Given the description of an element on the screen output the (x, y) to click on. 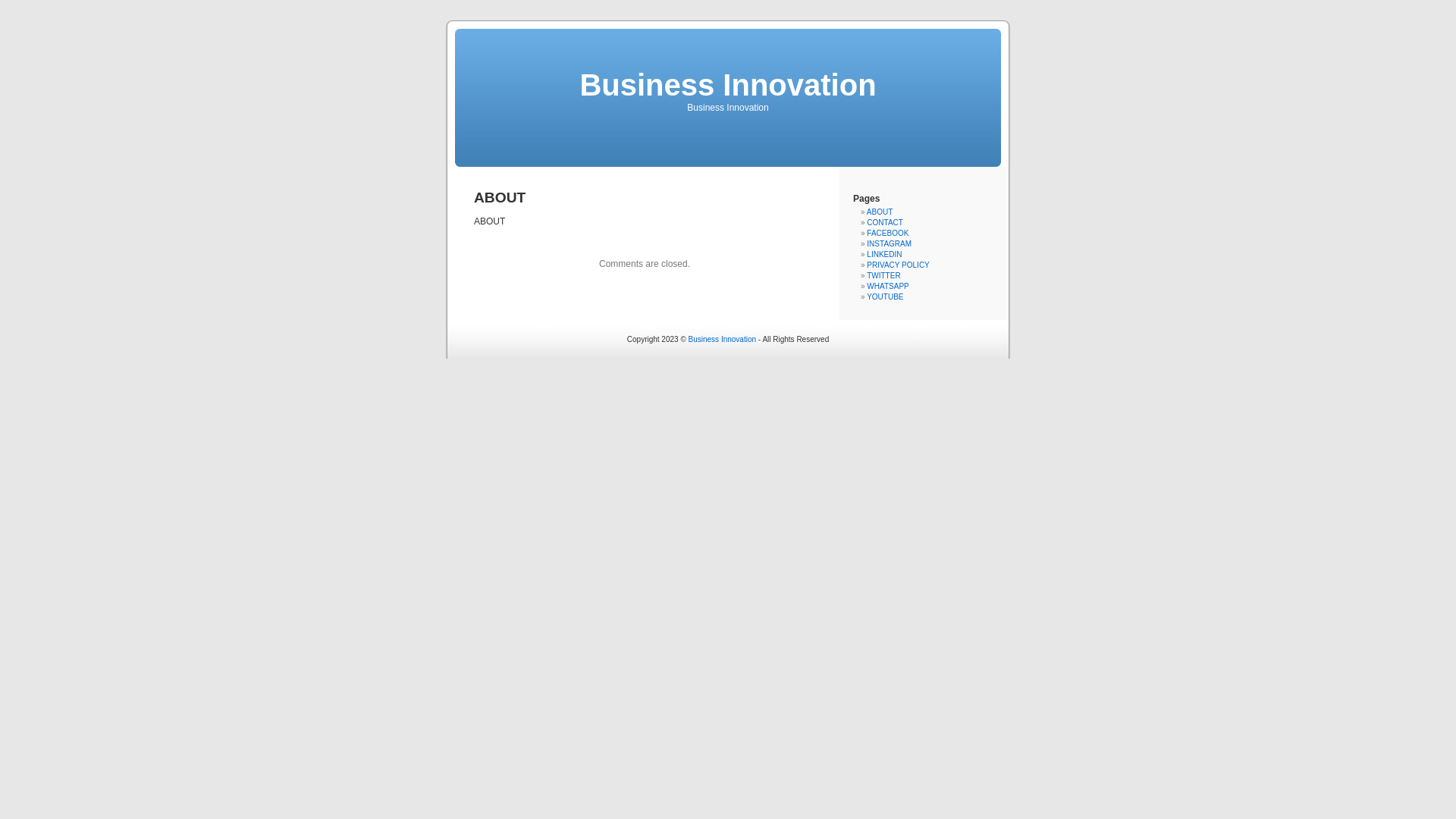
TWITTER Element type: text (883, 275)
CONTACT Element type: text (884, 222)
PRIVACY POLICY Element type: text (897, 264)
YOUTUBE Element type: text (884, 296)
LINKEDIN Element type: text (883, 254)
Business Innovation Element type: text (722, 339)
FACEBOOK Element type: text (887, 233)
INSTAGRAM Element type: text (888, 243)
WHATSAPP Element type: text (887, 286)
Business Innovation Element type: text (727, 84)
ABOUT Element type: text (879, 211)
